Given the description of an element on the screen output the (x, y) to click on. 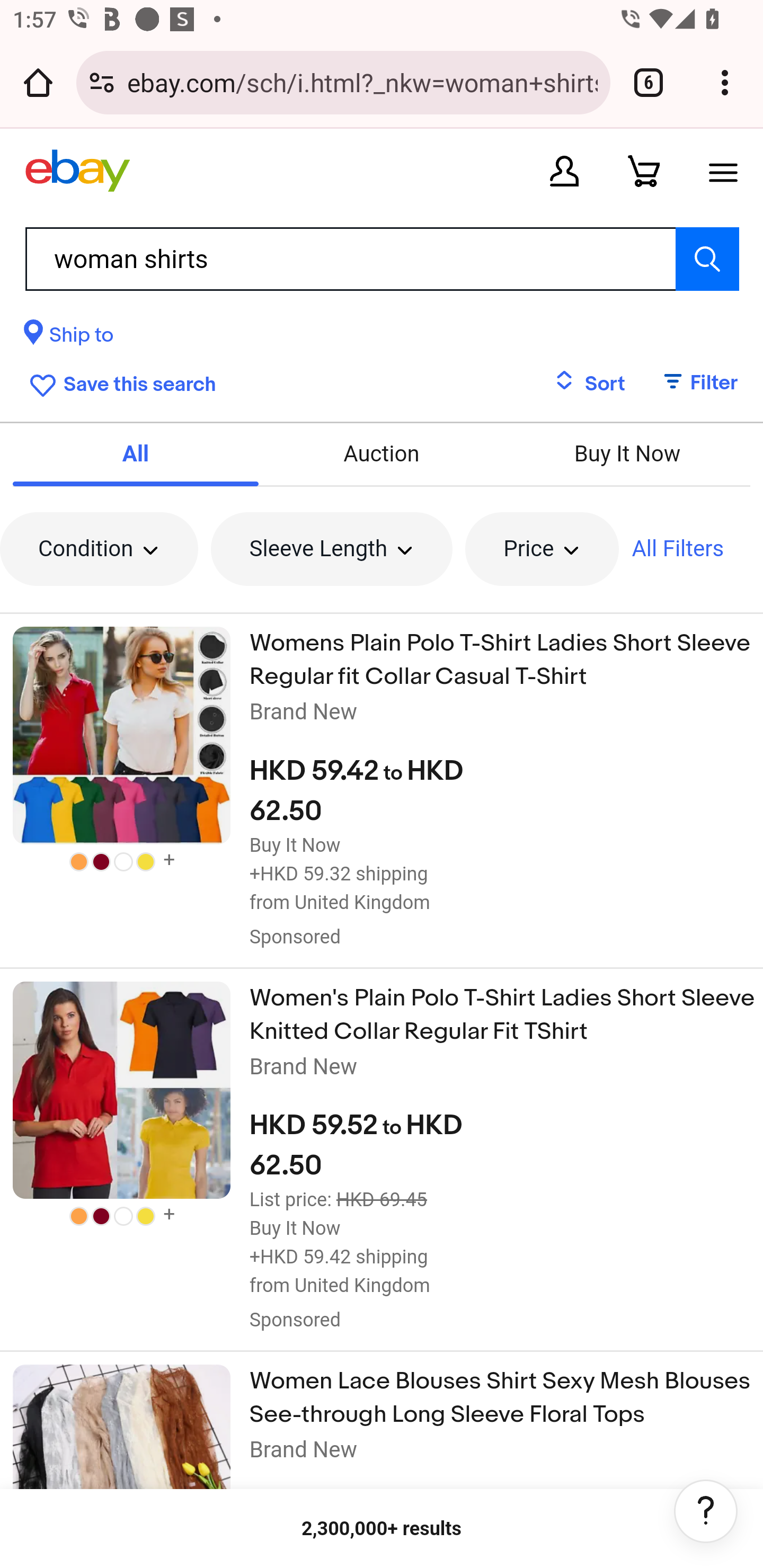
Open the home page (38, 82)
Connection is secure (101, 82)
Switch or close tabs (648, 82)
Customize and control Google Chrome (724, 82)
Open Menu (723, 170)
My eBay (564, 170)
Your shopping cart is empty (643, 170)
eBay Home (77, 170)
woman shirts (381, 258)
Search (707, 258)
Ship to  (68, 338)
Sort (589, 384)
Filter (690, 384)
Save this search woman shirts search (118, 382)
All selected (135, 453)
Auction (381, 453)
Buy It Now (626, 453)
Condition (99, 548)
Sleeve Length (331, 548)
Price (541, 548)
All Filters (677, 548)
Help (705, 1511)
